Given the description of an element on the screen output the (x, y) to click on. 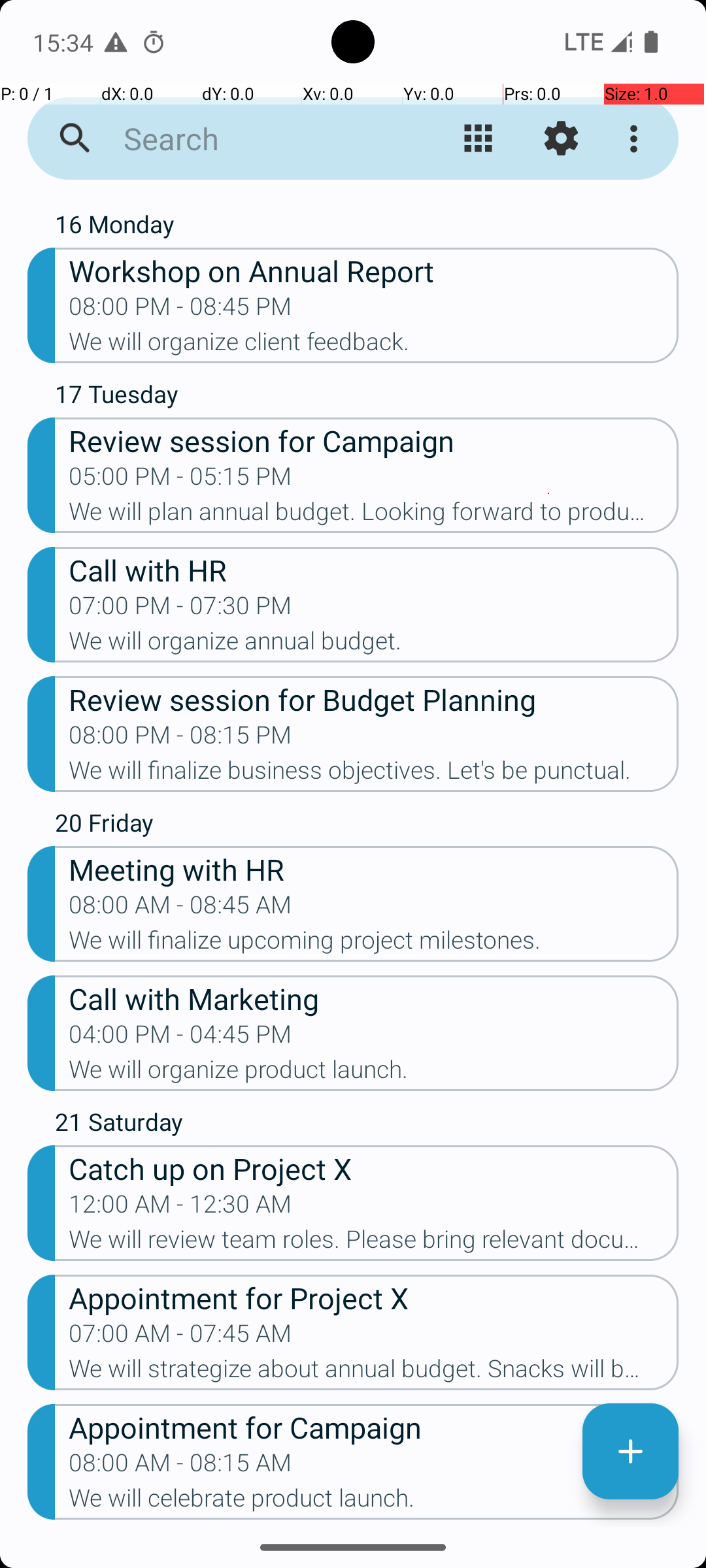
OCTOBER Element type: android.widget.TextView (353, 200)
16 Monday Element type: android.widget.TextView (366, 227)
17 Tuesday Element type: android.widget.TextView (366, 396)
20 Friday Element type: android.widget.TextView (366, 825)
21 Saturday Element type: android.widget.TextView (366, 1124)
Workshop on Annual Report Element type: android.widget.TextView (373, 269)
08:00 PM - 08:45 PM Element type: android.widget.TextView (179, 309)
We will organize client feedback. Element type: android.widget.TextView (373, 345)
Review session for Campaign Element type: android.widget.TextView (373, 439)
05:00 PM - 05:15 PM Element type: android.widget.TextView (179, 479)
We will plan annual budget. Looking forward to productive discussions. Element type: android.widget.TextView (373, 515)
Call with HR Element type: android.widget.TextView (373, 568)
07:00 PM - 07:30 PM Element type: android.widget.TextView (179, 609)
We will organize annual budget. Element type: android.widget.TextView (373, 644)
Review session for Budget Planning Element type: android.widget.TextView (373, 698)
08:00 PM - 08:15 PM Element type: android.widget.TextView (179, 738)
We will finalize business objectives. Let's be punctual. Element type: android.widget.TextView (373, 773)
Meeting with HR Element type: android.widget.TextView (373, 868)
08:00 AM - 08:45 AM Element type: android.widget.TextView (179, 908)
We will finalize upcoming project milestones. Element type: android.widget.TextView (373, 943)
Call with Marketing Element type: android.widget.TextView (373, 997)
04:00 PM - 04:45 PM Element type: android.widget.TextView (179, 1037)
We will organize product launch. Element type: android.widget.TextView (373, 1073)
Catch up on Project X Element type: android.widget.TextView (373, 1167)
12:00 AM - 12:30 AM Element type: android.widget.TextView (179, 1207)
We will review team roles. Please bring relevant documents. Element type: android.widget.TextView (373, 1242)
Appointment for Project X Element type: android.widget.TextView (373, 1296)
07:00 AM - 07:45 AM Element type: android.widget.TextView (179, 1337)
We will strategize about annual budget. Snacks will be provided. Element type: android.widget.TextView (373, 1372)
Appointment for Campaign Element type: android.widget.TextView (373, 1426)
08:00 AM - 08:15 AM Element type: android.widget.TextView (179, 1466)
We will celebrate product launch. Element type: android.widget.TextView (373, 1501)
